Given the description of an element on the screen output the (x, y) to click on. 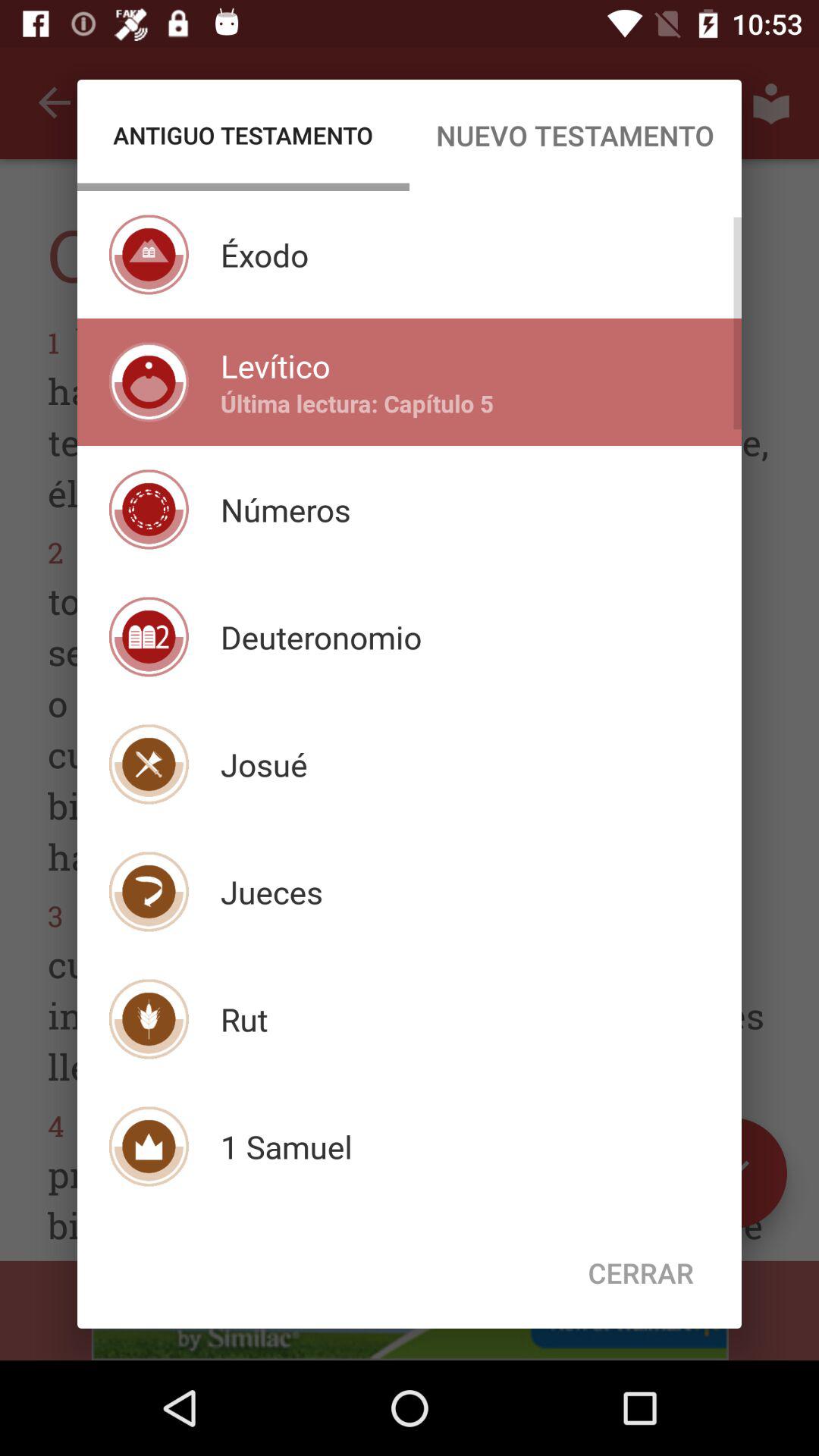
tap deuteronomio (321, 636)
